Given the description of an element on the screen output the (x, y) to click on. 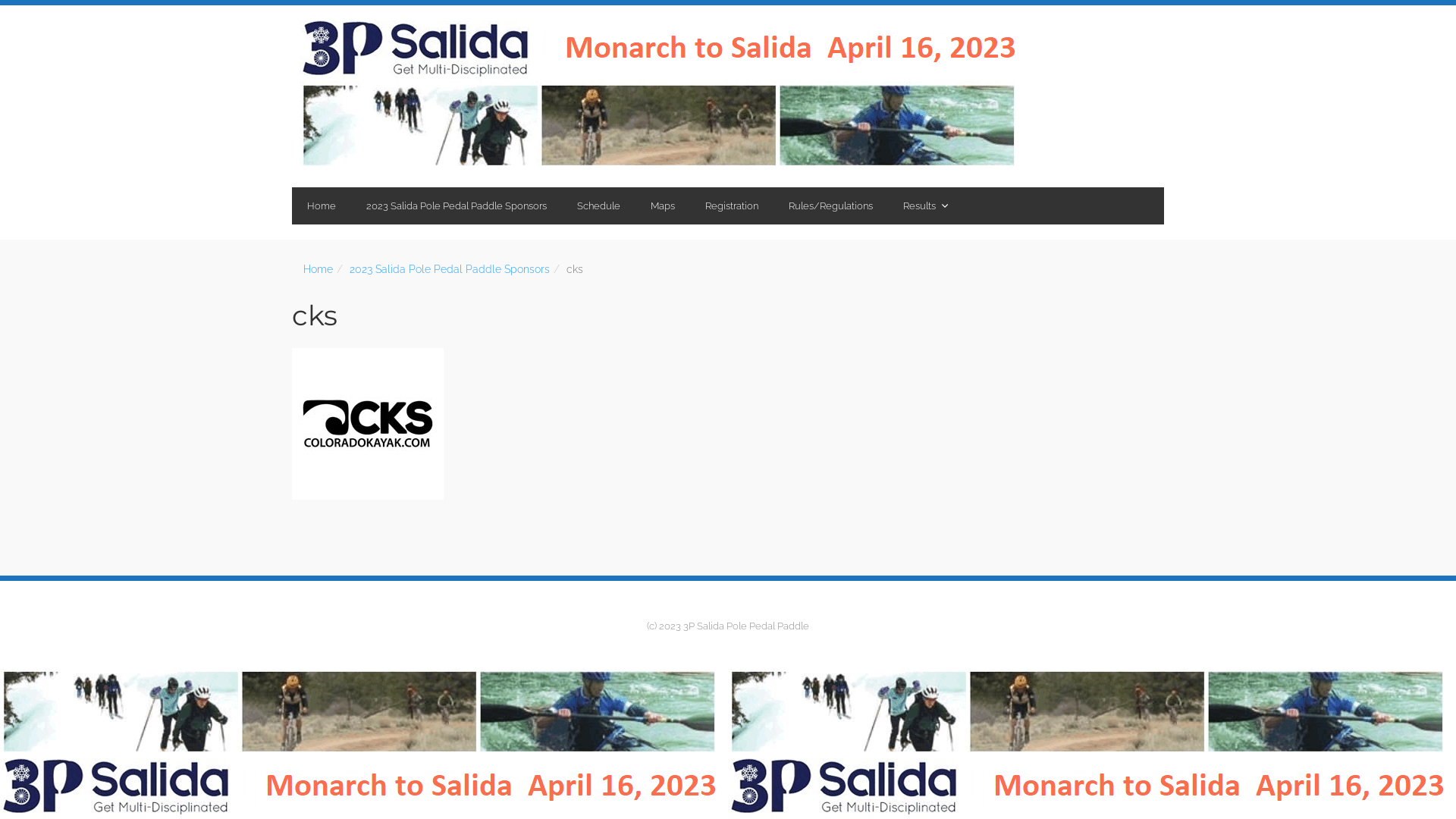
2023 Salida Pole Pedal Paddle Sponsors Element type: text (449, 269)
Schedule Element type: text (598, 205)
Maps Element type: text (662, 205)
2023 Salida Pole Pedal Paddle Sponsors Element type: text (456, 205)
Home Element type: text (317, 269)
Registration Element type: text (731, 205)
cks Element type: hover (727, 423)
Home Element type: text (321, 205)
Results Element type: text (923, 205)
cks Element type: text (314, 315)
Rules/Regulations Element type: text (830, 205)
3P Salida Pole Pedal Paddle Element type: hover (663, 96)
